Given the description of an element on the screen output the (x, y) to click on. 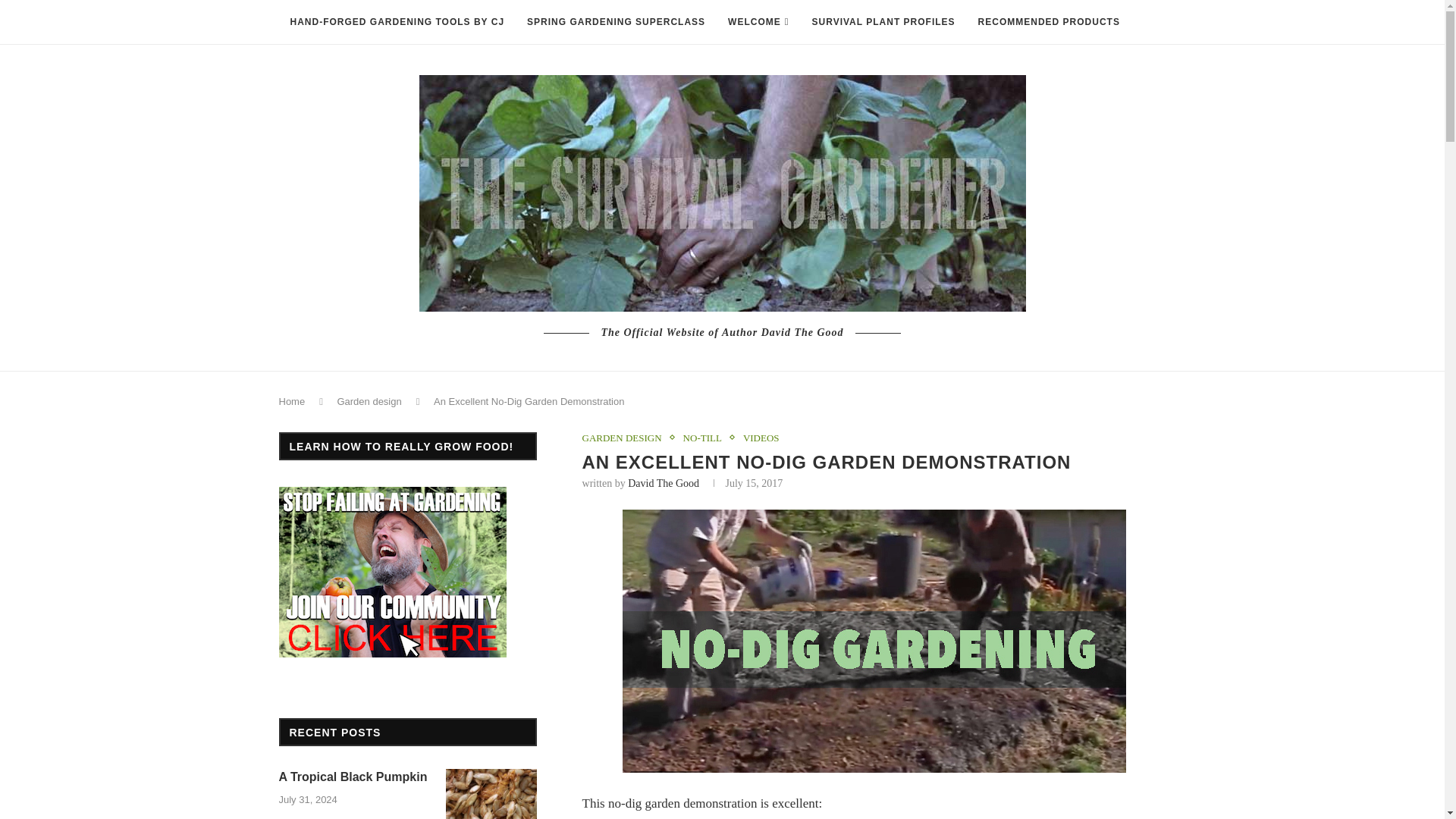
WELCOME (757, 22)
VIDEOS (760, 438)
HAND-FORGED GARDENING TOOLS BY CJ (397, 22)
David The Good (662, 482)
GARDEN DESIGN (625, 438)
RECOMMENDED PRODUCTS (1048, 22)
MUSHROOM FORAGING BOOKS (370, 67)
SURVIVAL PLANT PROFILES (883, 22)
Home (292, 401)
DIG DEEPER (508, 67)
